Given the description of an element on the screen output the (x, y) to click on. 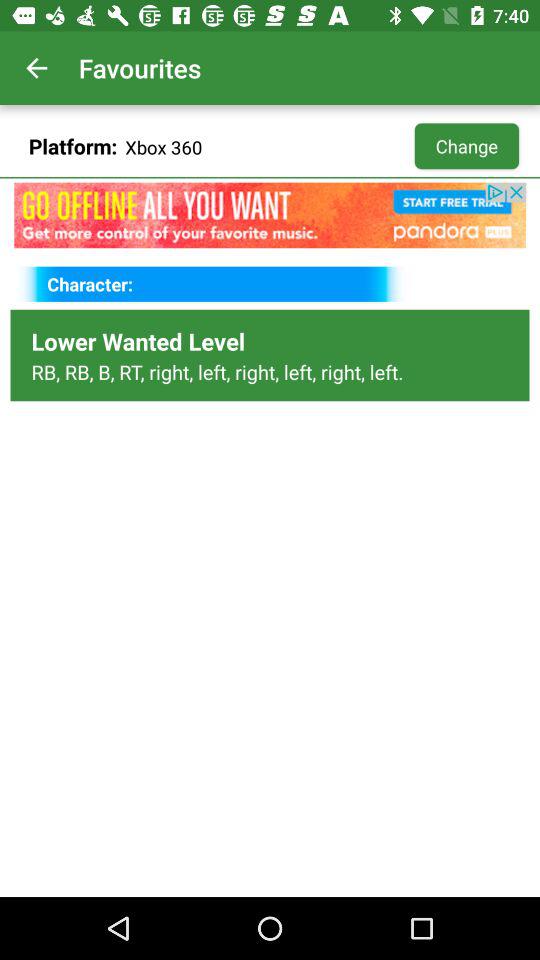
music (270, 215)
